Given the description of an element on the screen output the (x, y) to click on. 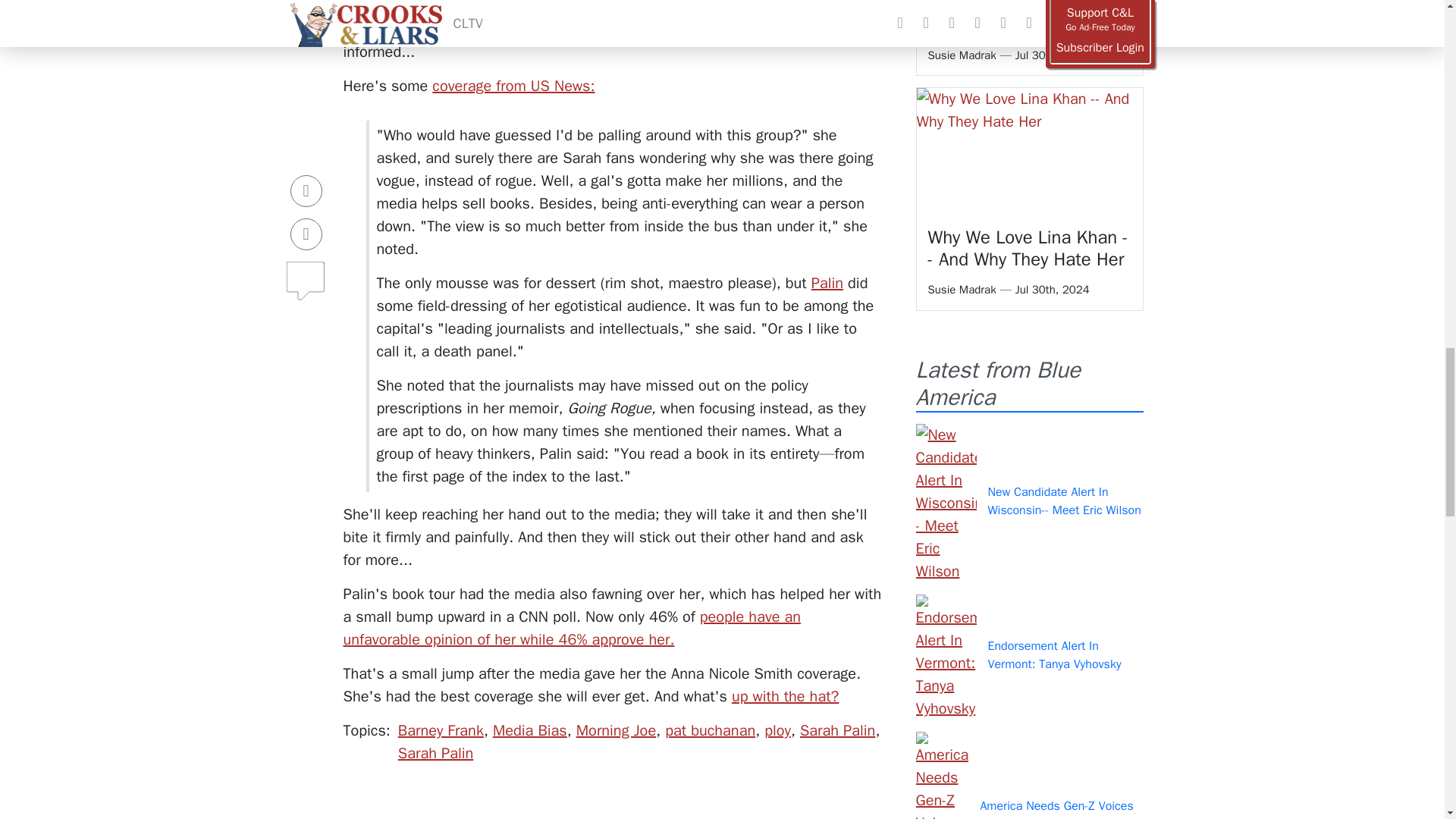
up with the hat? (785, 696)
Barney Frank (440, 730)
coverage from US News: (513, 85)
Palin (826, 282)
Morning Joe (616, 730)
Media Bias (530, 730)
pat buchanan (710, 730)
